Given the description of an element on the screen output the (x, y) to click on. 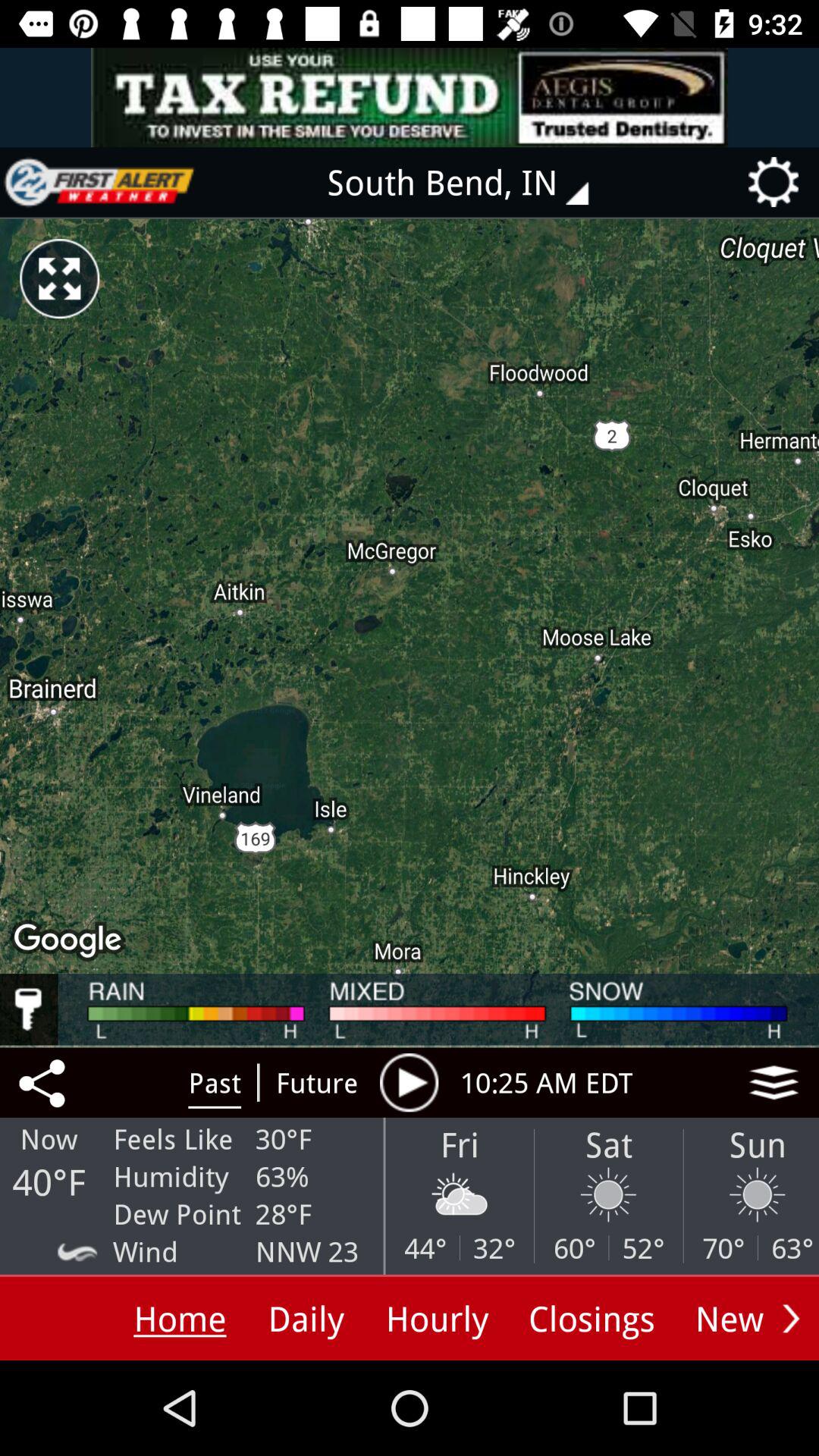
wsbtweather (99, 182)
